Given the description of an element on the screen output the (x, y) to click on. 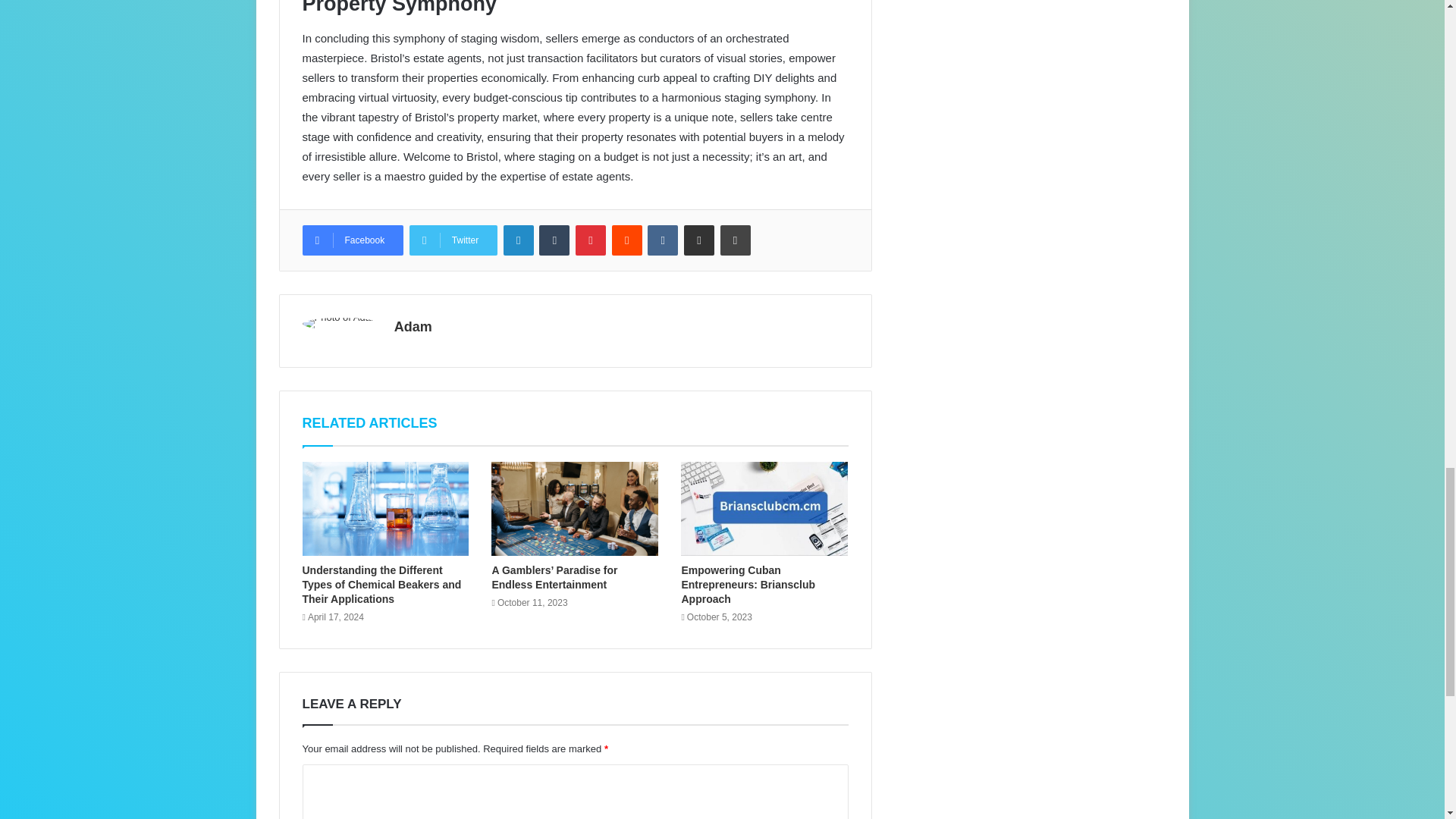
Adam (413, 326)
Share via Email (699, 240)
Pinterest (590, 240)
VKontakte (662, 240)
Reddit (626, 240)
LinkedIn (518, 240)
Share via Email (699, 240)
Print (735, 240)
Empowering Cuban Entrepreneurs: Briansclub Approach (748, 584)
VKontakte (662, 240)
Twitter (453, 240)
LinkedIn (518, 240)
Reddit (626, 240)
Twitter (453, 240)
Tumblr (553, 240)
